Given the description of an element on the screen output the (x, y) to click on. 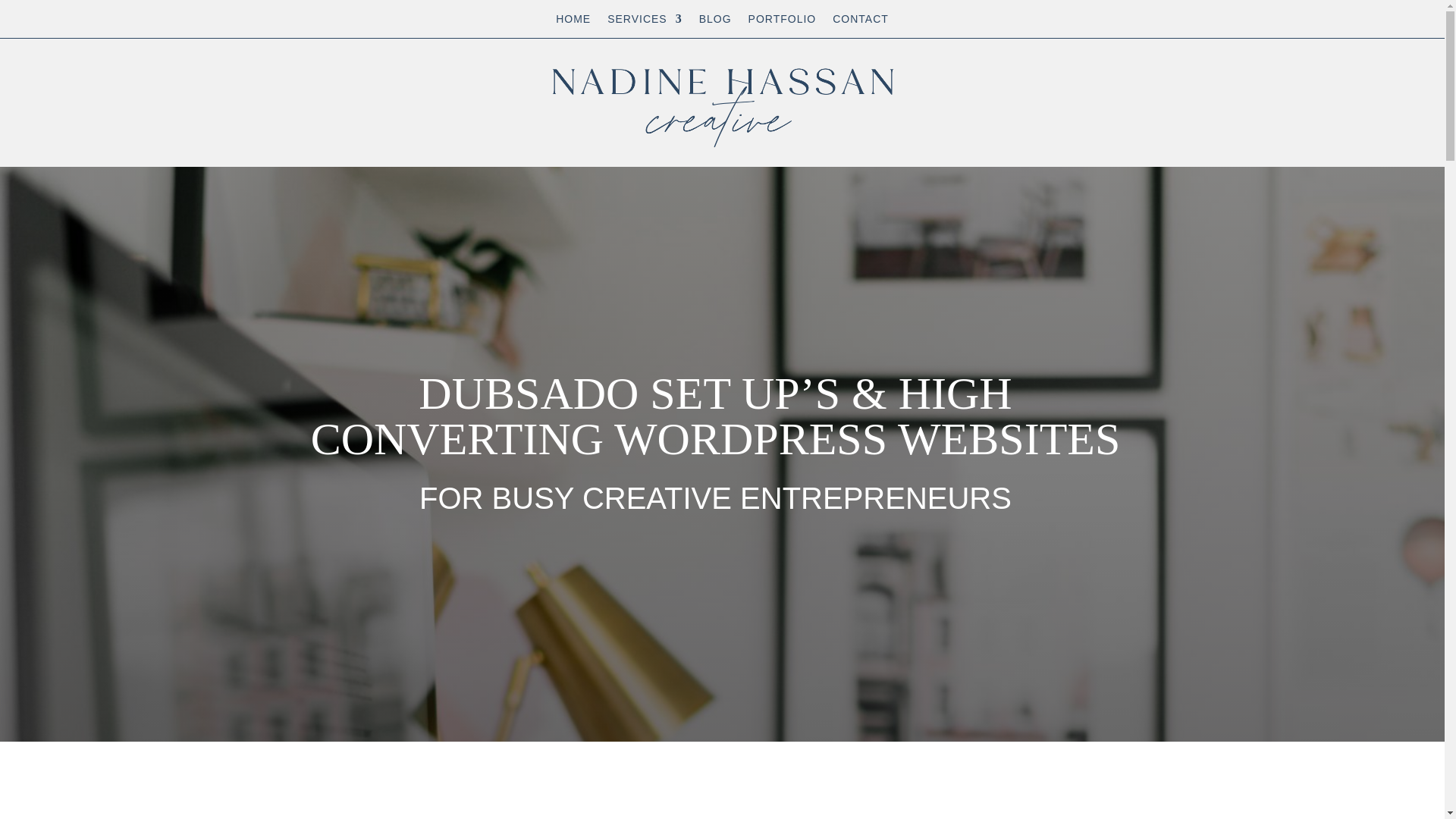
NHC Main Logo (721, 102)
CONTACT (860, 21)
PORTFOLIO (782, 21)
BLOG (715, 21)
HOME (573, 21)
SERVICES (644, 21)
